Given the description of an element on the screen output the (x, y) to click on. 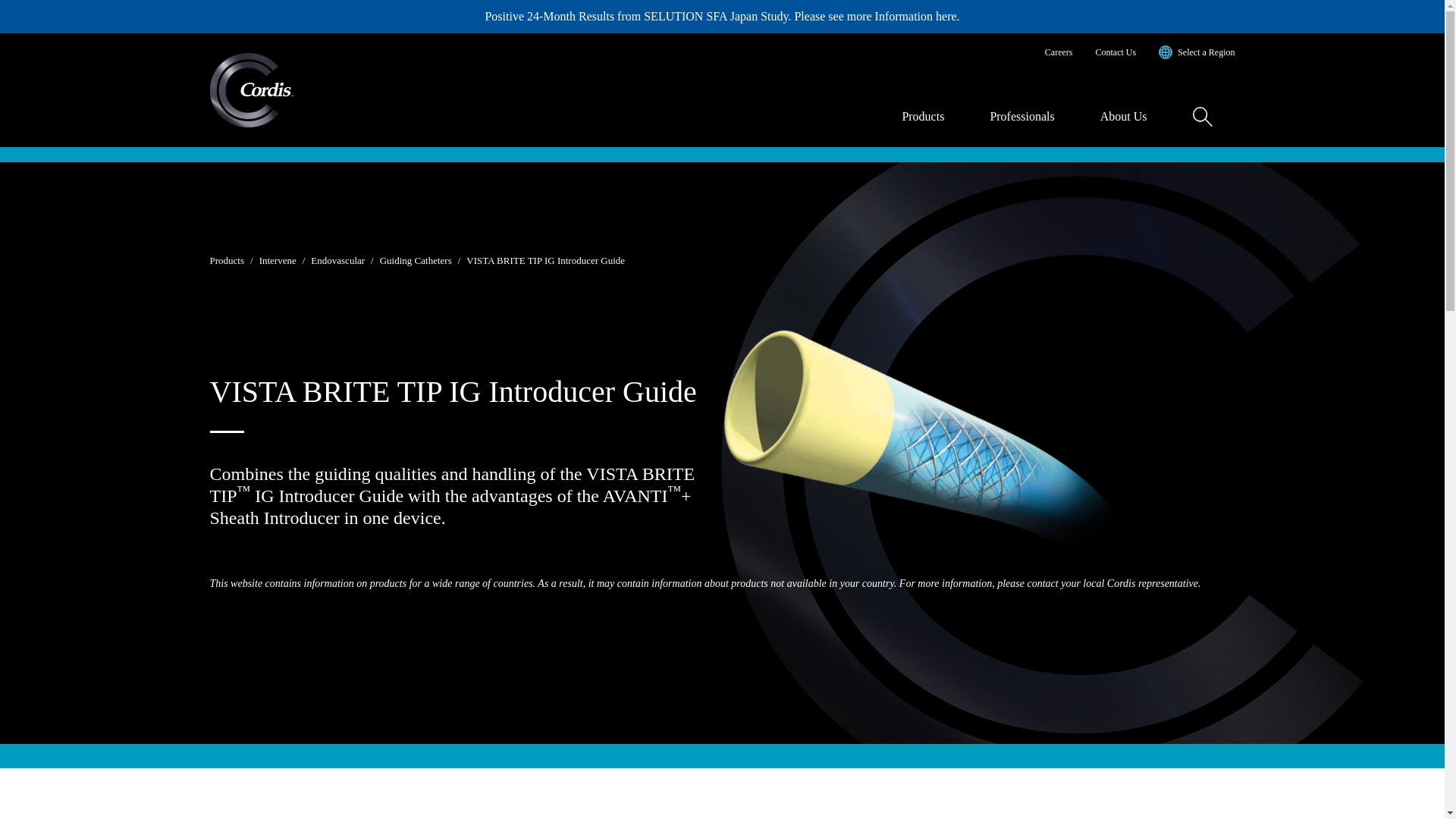
Cordis Logo (250, 90)
Careers (1059, 51)
Products (922, 116)
here (946, 15)
Select a Region (1196, 51)
Contact Us (1116, 51)
